Given the description of an element on the screen output the (x, y) to click on. 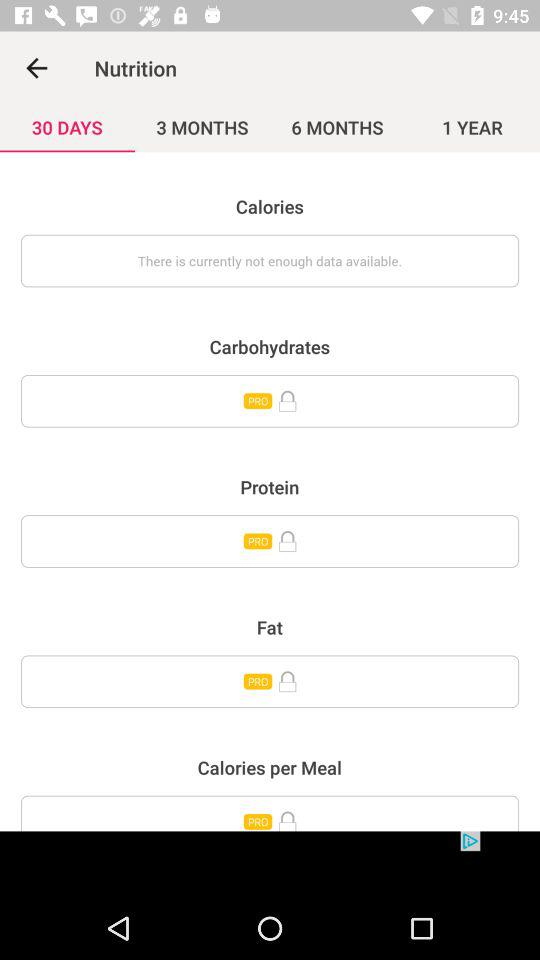
space for advertisement (270, 864)
